Given the description of an element on the screen output the (x, y) to click on. 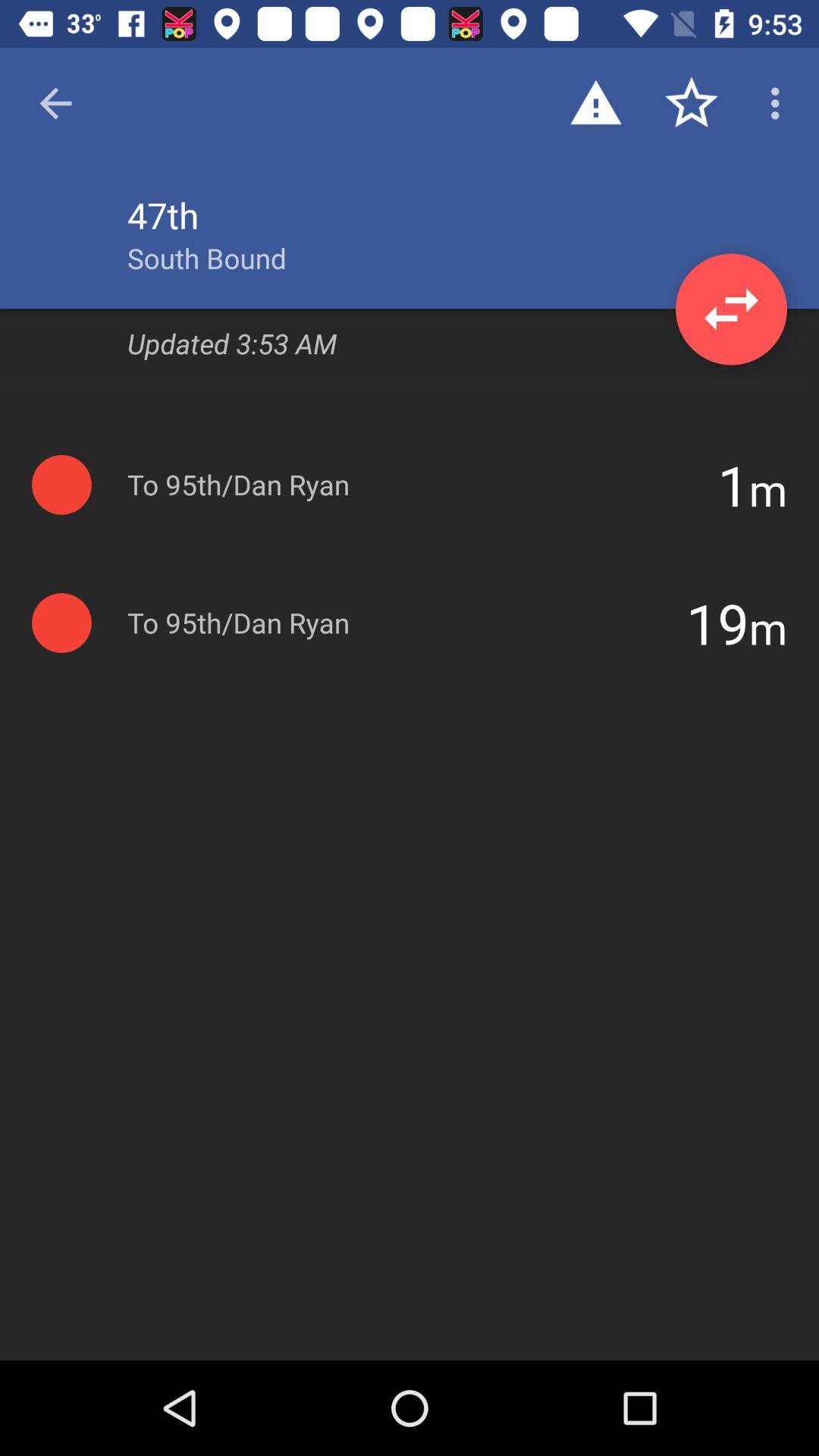
click item next to 95th/dan ryan icon (733, 484)
